Given the description of an element on the screen output the (x, y) to click on. 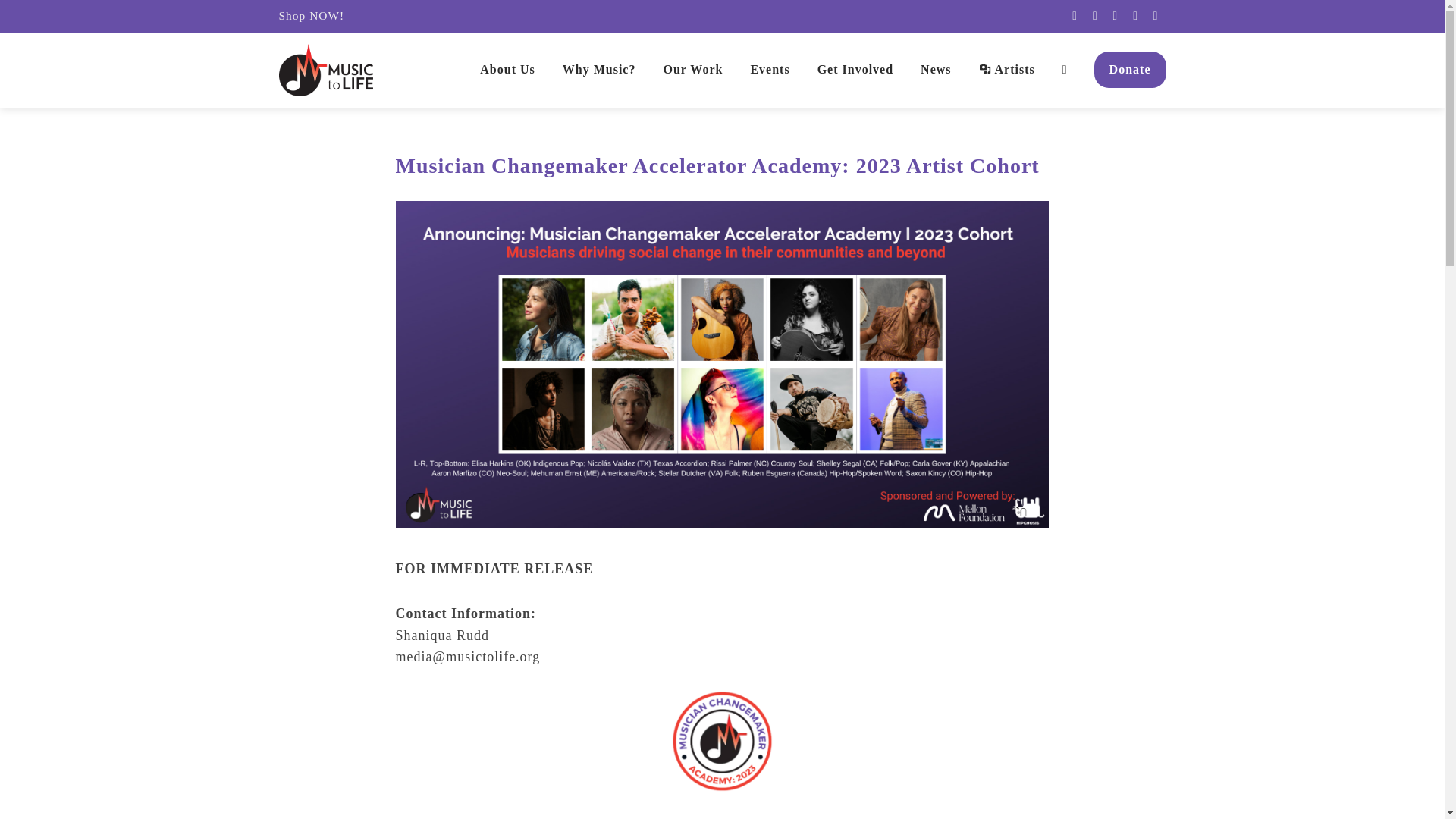
Get Involved (855, 69)
About Us (507, 69)
Donate (1130, 69)
Our Work (691, 69)
Shop NOW! (312, 15)
Artists (1007, 69)
Why Music? (599, 69)
Events (769, 69)
News (935, 69)
